Given the description of an element on the screen output the (x, y) to click on. 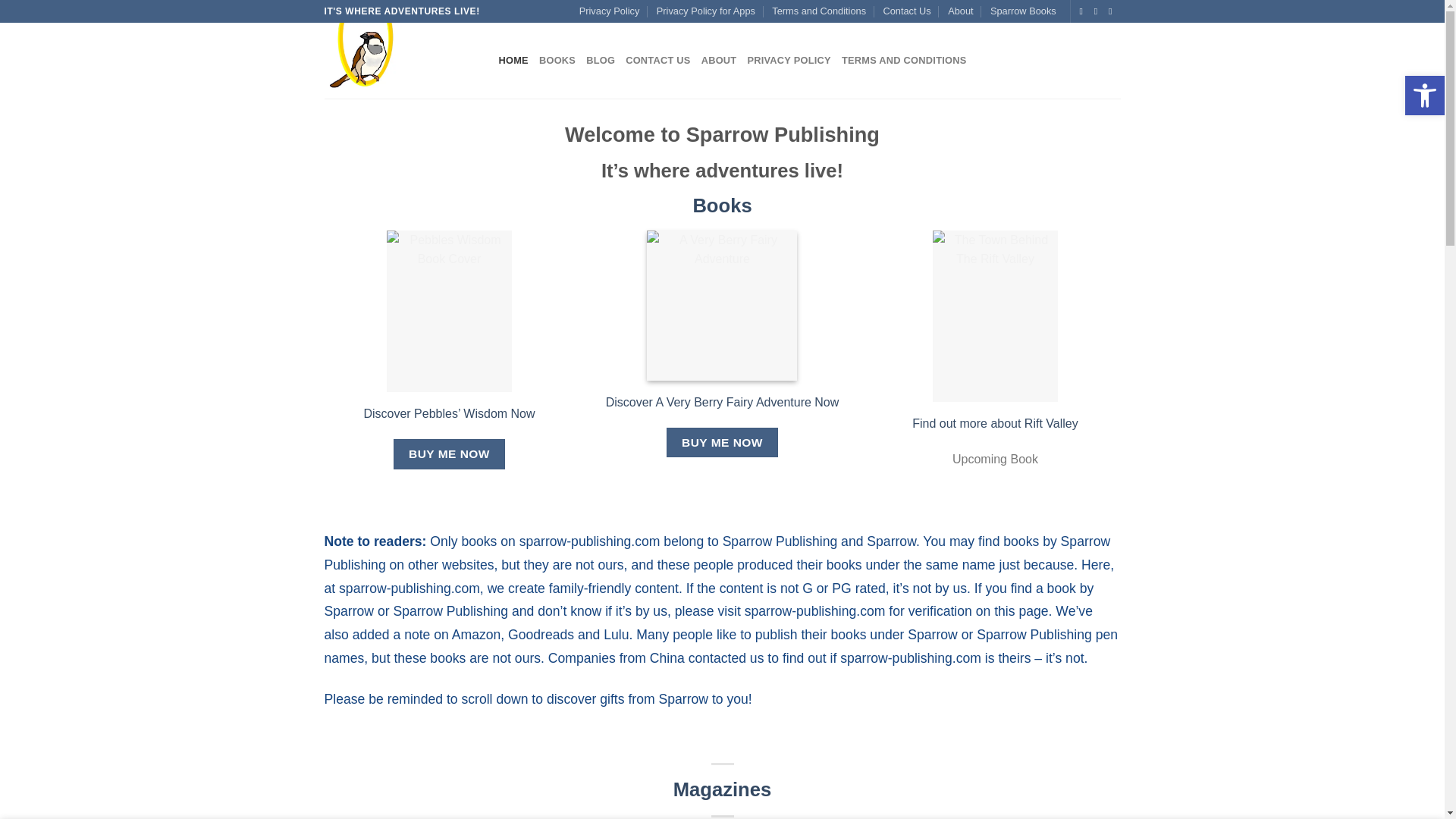
Follow on Twitter (1084, 10)
Follow on Pinterest (1098, 10)
HOME (513, 60)
Privacy Policy (609, 11)
Privacy Policy for Apps (705, 11)
About (959, 11)
Sparrow Books (1023, 11)
CONTACT US (658, 60)
Contact Us (906, 11)
BOOKS (556, 60)
Accessibility Tools (1424, 95)
BLOG (600, 60)
Terms and Conditions (818, 11)
Sparrow Publishing - It is where adventures live! (400, 60)
Follow on YouTube (1113, 10)
